Given the description of an element on the screen output the (x, y) to click on. 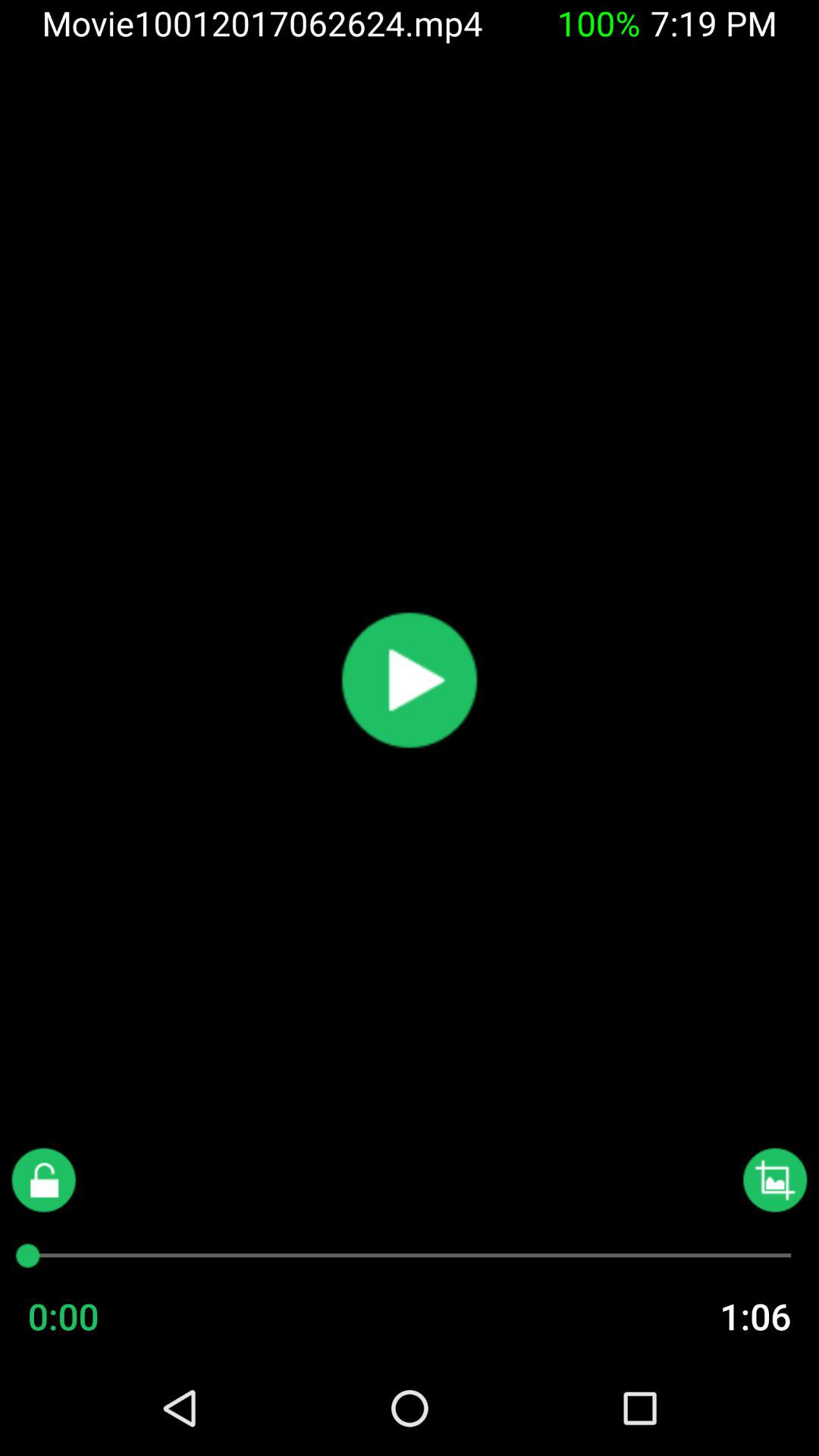
jump to 1:06 item (725, 1315)
